Given the description of an element on the screen output the (x, y) to click on. 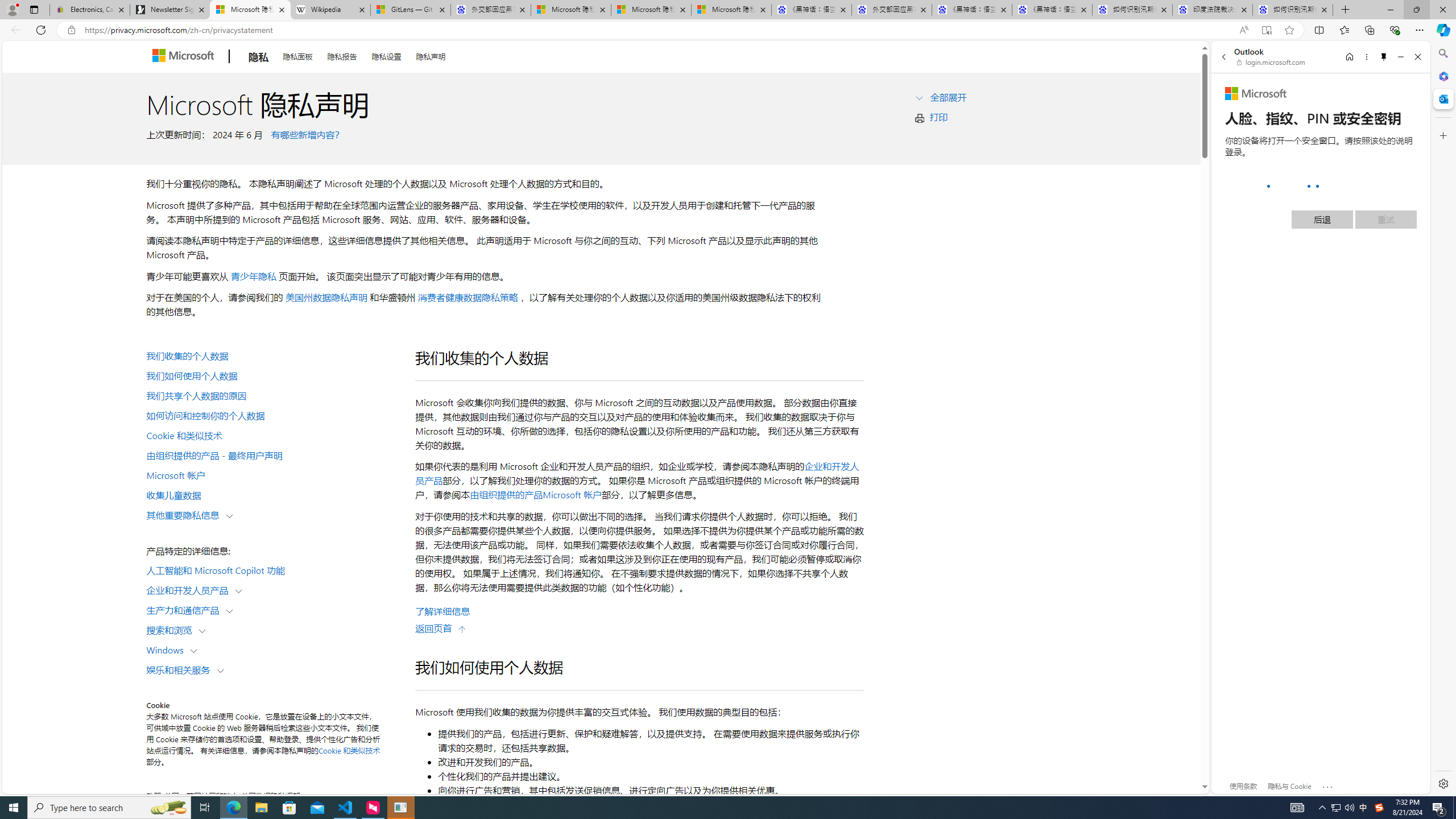
Newsletter Sign Up (170, 9)
